Given the description of an element on the screen output the (x, y) to click on. 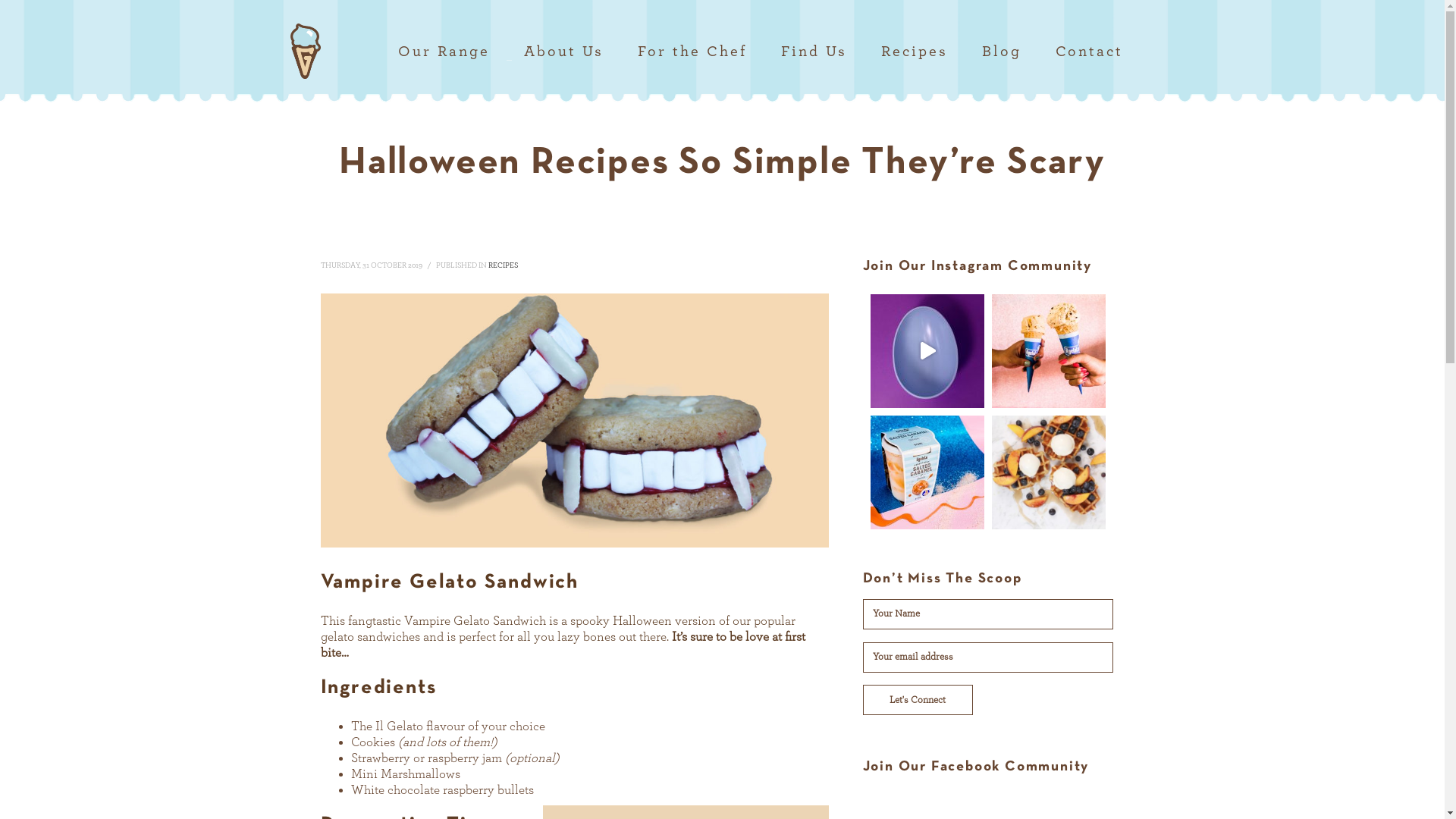
I could go on about how good gelato is all day, bu Element type: text (1048, 472)
Find Us Element type: text (798, 51)
Blog Element type: text (985, 51)
Recipes Element type: text (898, 51)
Hallowen5 Element type: hover (574, 420)
Our Range Element type: text (428, 51)
Let's Connect Element type: text (917, 699)
For the Chef Element type: text (676, 51)
RECIPES Element type: text (502, 265)
Good Friday? More like Great Friday! Element type: text (1048, 350)
About Us Element type: text (547, 51)
Contact Element type: text (1074, 51)
